Given the description of an element on the screen output the (x, y) to click on. 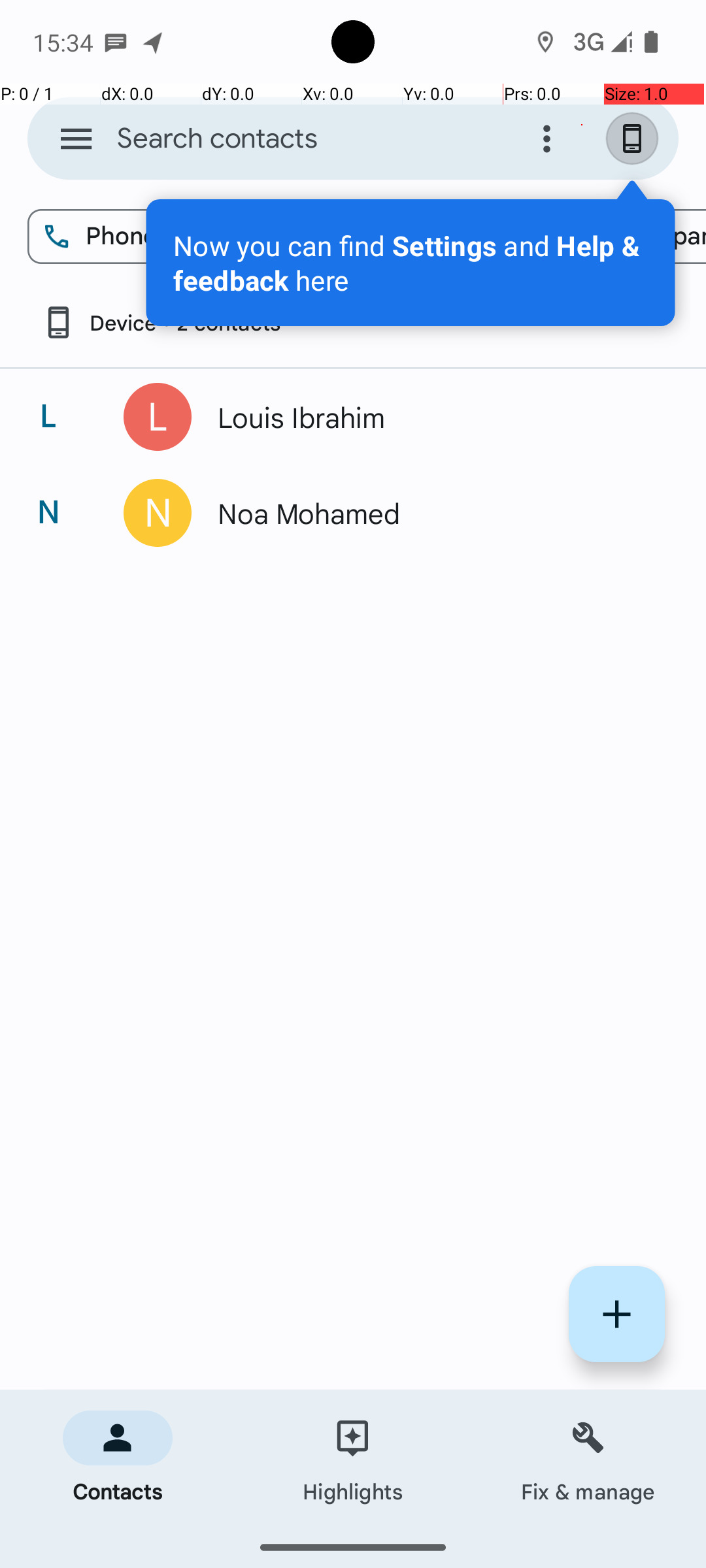
Device • 2 contacts Element type: android.widget.TextView (161, 322)
Louis Ibrahim Element type: android.widget.TextView (434, 416)
Noa Mohamed Element type: android.widget.TextView (434, 512)
Now you can find Settings and Help & feedback here
Open account and settings. Element type: android.view.ViewGroup (409, 262)
Now you can find Settings and Help & feedback here Element type: android.widget.TextView (410, 262)
SMS Messenger notification: Noa Mohamed Element type: android.widget.ImageView (115, 41)
